Given the description of an element on the screen output the (x, y) to click on. 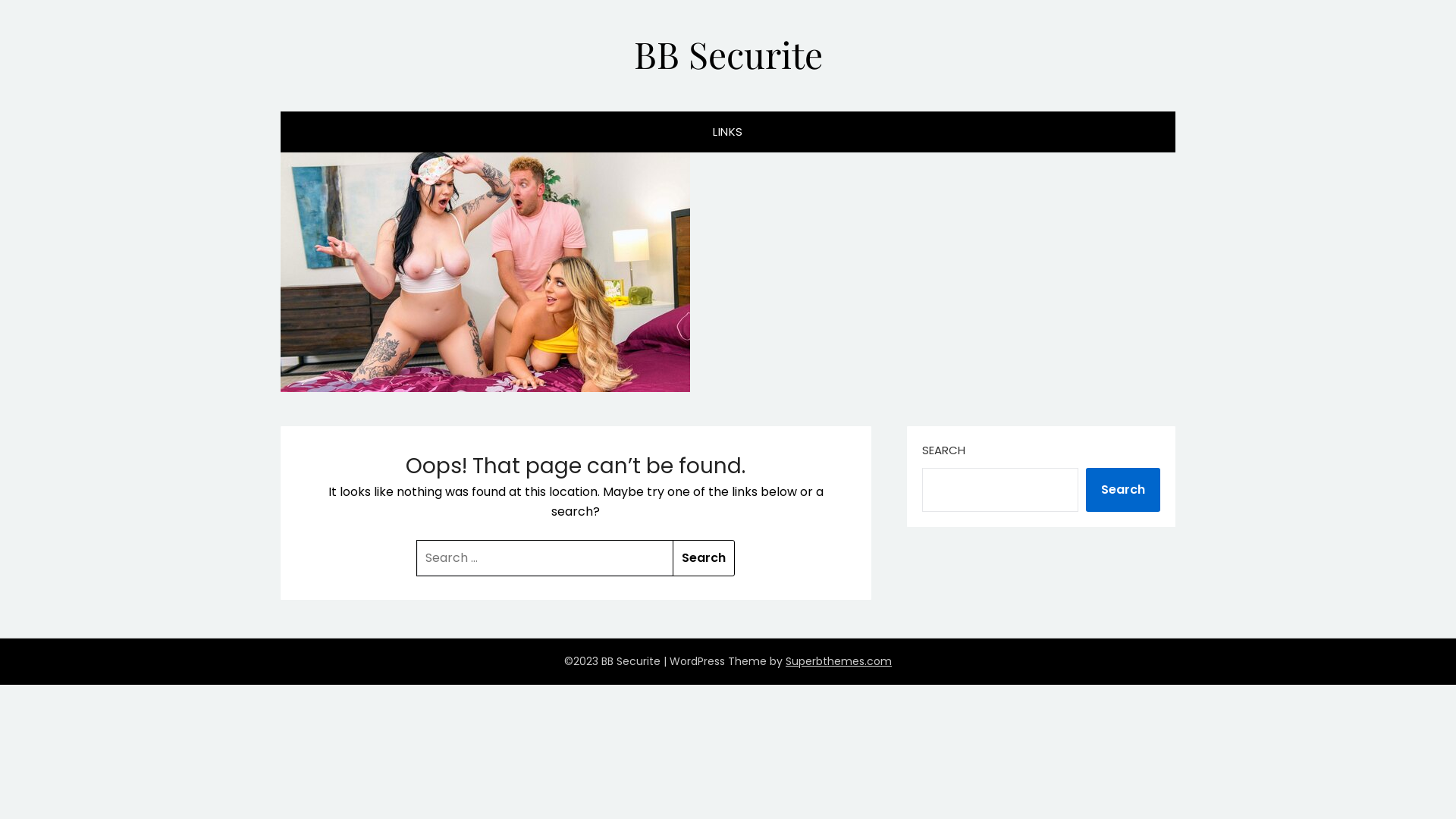
Search Element type: text (1122, 489)
Search Element type: text (703, 557)
Superbthemes.com Element type: text (838, 660)
LINKS Element type: text (727, 131)
BB Securite Element type: text (727, 53)
